Given the description of an element on the screen output the (x, y) to click on. 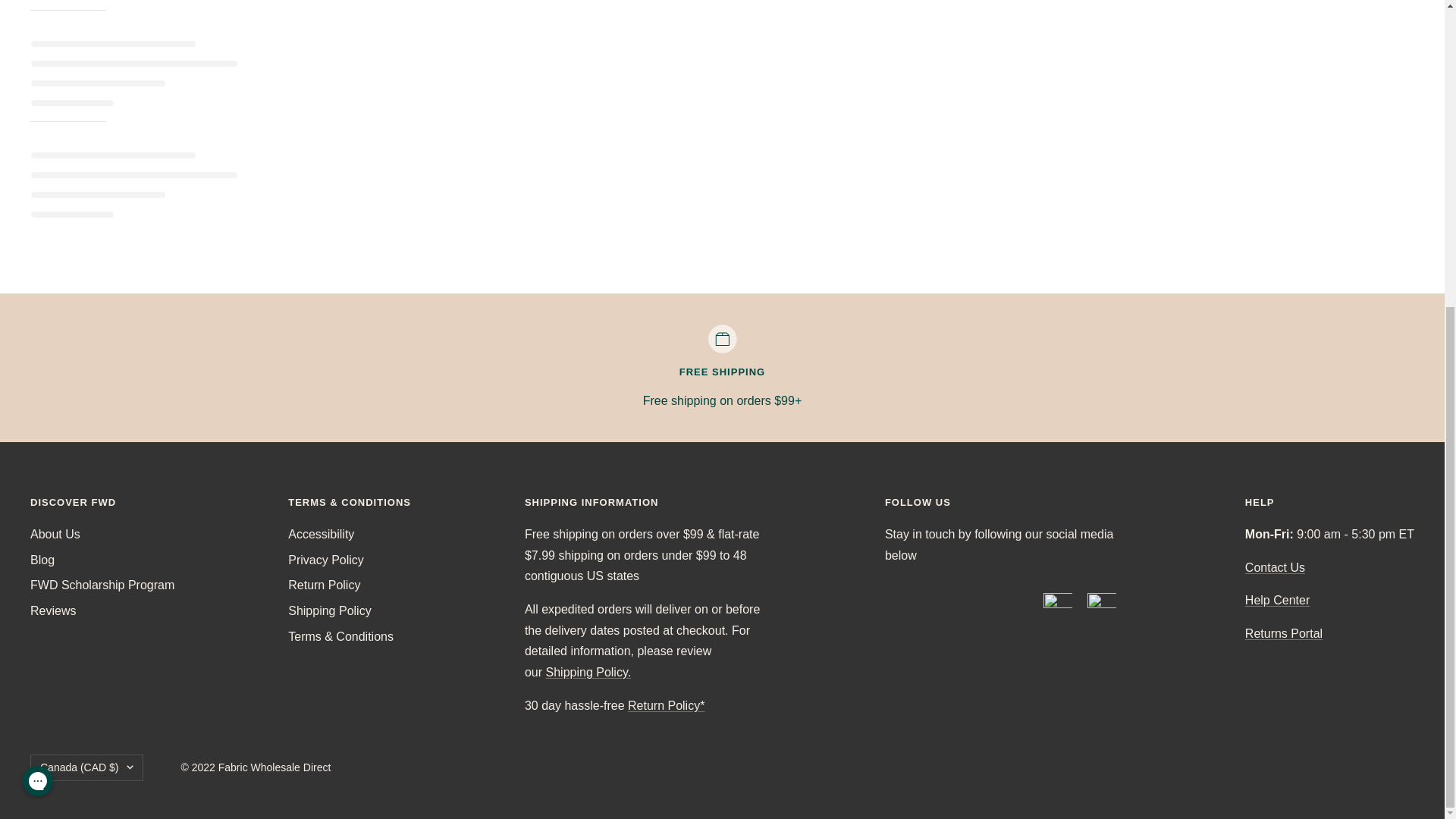
Returns portal (1283, 633)
Contact Us (1274, 567)
Help Center (1276, 599)
